Given the description of an element on the screen output the (x, y) to click on. 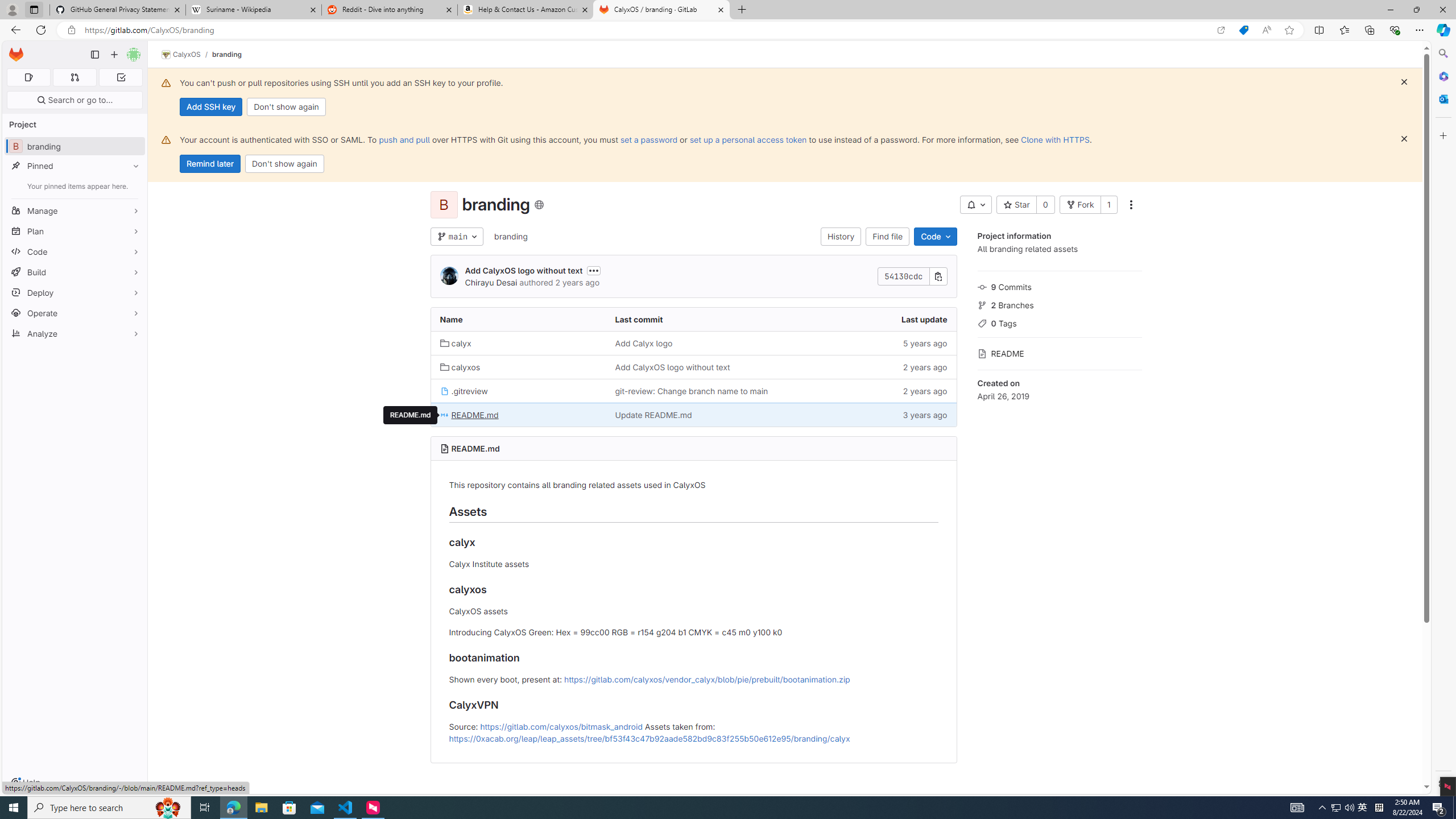
To-Do list 0 (120, 76)
branding (510, 236)
Last commit (693, 319)
Add Calyx logo (643, 342)
Shopping in Microsoft Edge (1243, 29)
main (456, 236)
Find file (888, 236)
Don't show again (284, 163)
History (840, 236)
git-review: Change branch name to main (693, 390)
